Given the description of an element on the screen output the (x, y) to click on. 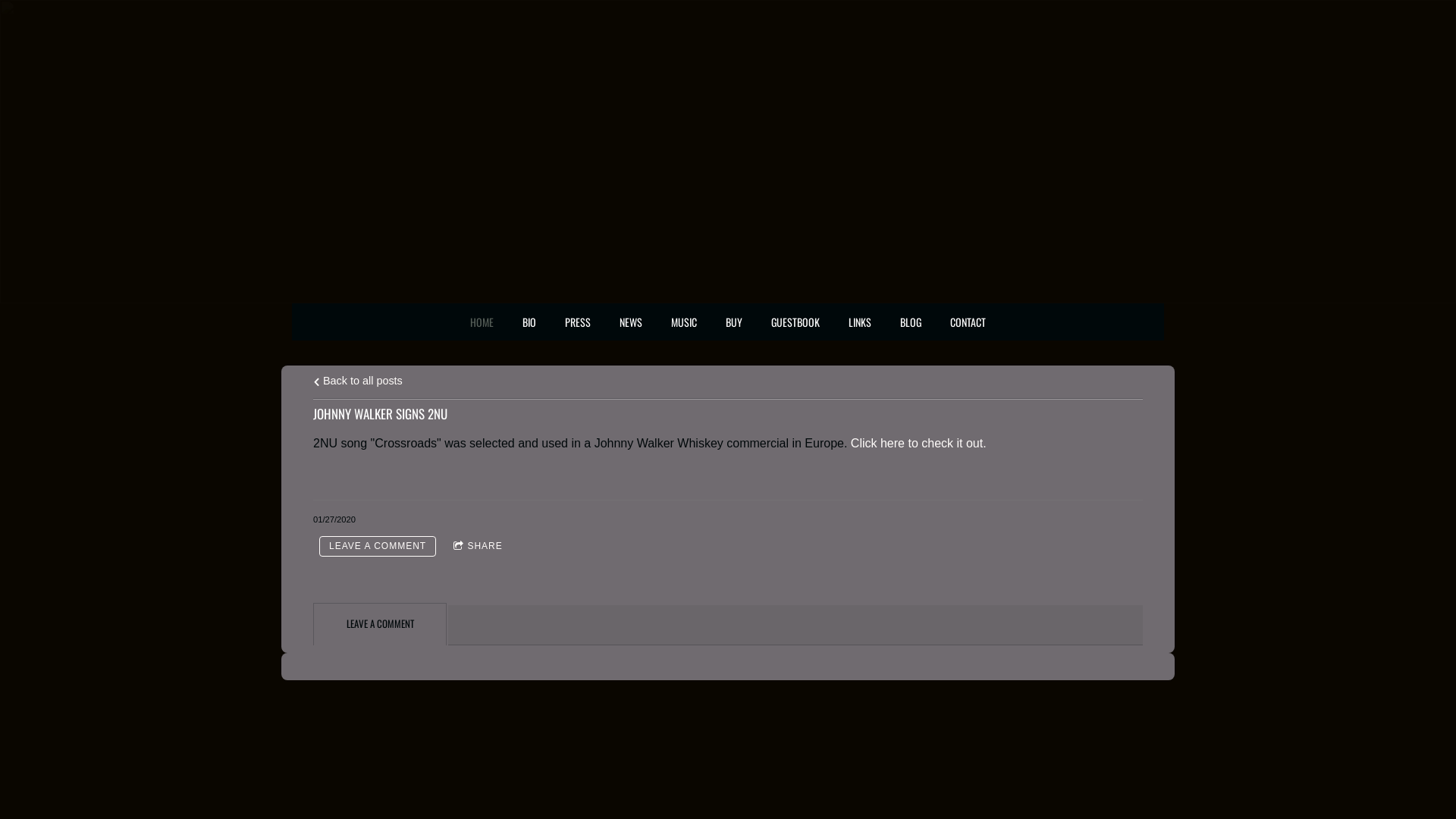
BUY Element type: text (734, 321)
NEWS Element type: text (630, 321)
LINKS Element type: text (859, 321)
Click here to check it out. Element type: text (918, 442)
MUSIC Element type: text (683, 321)
GUESTBOOK Element type: text (795, 321)
SHARE Element type: text (477, 545)
LEAVE A COMMENT Element type: text (377, 546)
PRESS Element type: text (577, 321)
HOME Element type: text (481, 321)
CONTACT Element type: text (967, 321)
BIO Element type: text (528, 321)
BLOG Element type: text (910, 321)
Back to all posts Element type: text (357, 380)
